Given the description of an element on the screen output the (x, y) to click on. 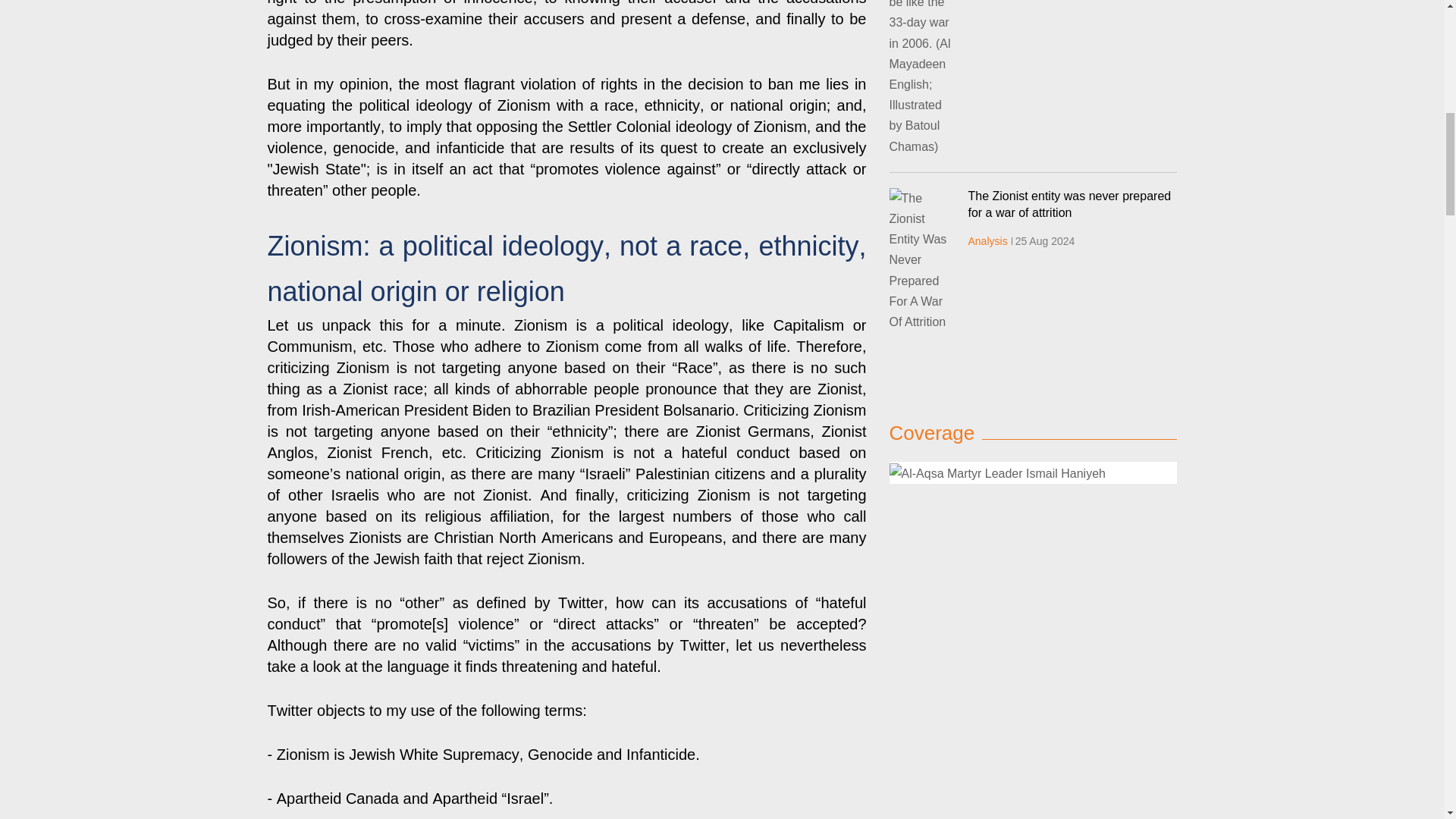
Analysis (987, 241)
Al-Aqsa Martyr Leader Ismail Haniyeh (1032, 472)
Al-Aqsa Martyr Leader Ismail Haniyeh (996, 473)
